Given the description of an element on the screen output the (x, y) to click on. 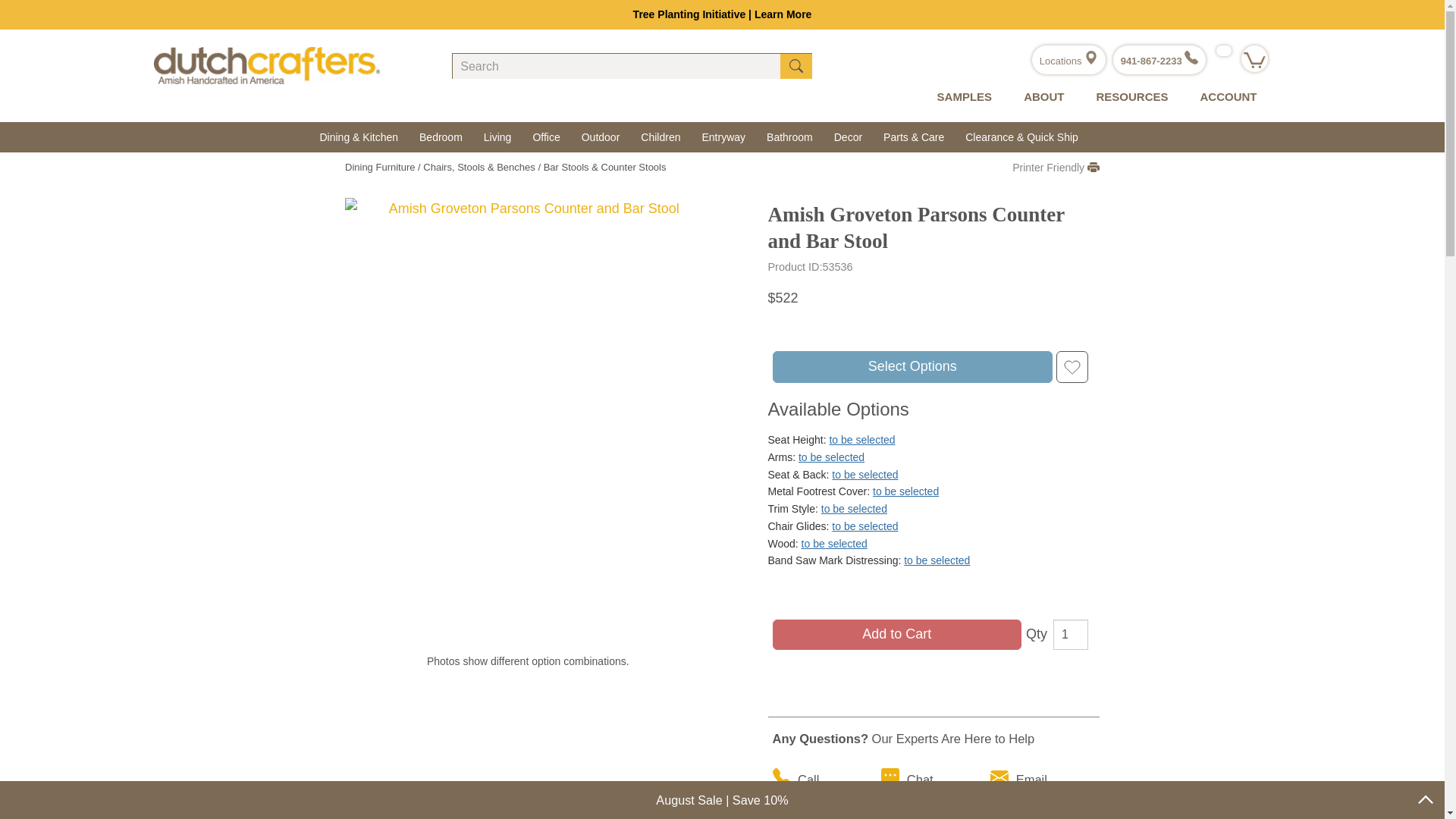
941-867-2233 (1159, 60)
Locations (1068, 60)
1 (1069, 634)
SAMPLES (961, 96)
RESOURCES (1128, 96)
ACCOUNT (1224, 96)
ABOUT (1039, 96)
